Given the description of an element on the screen output the (x, y) to click on. 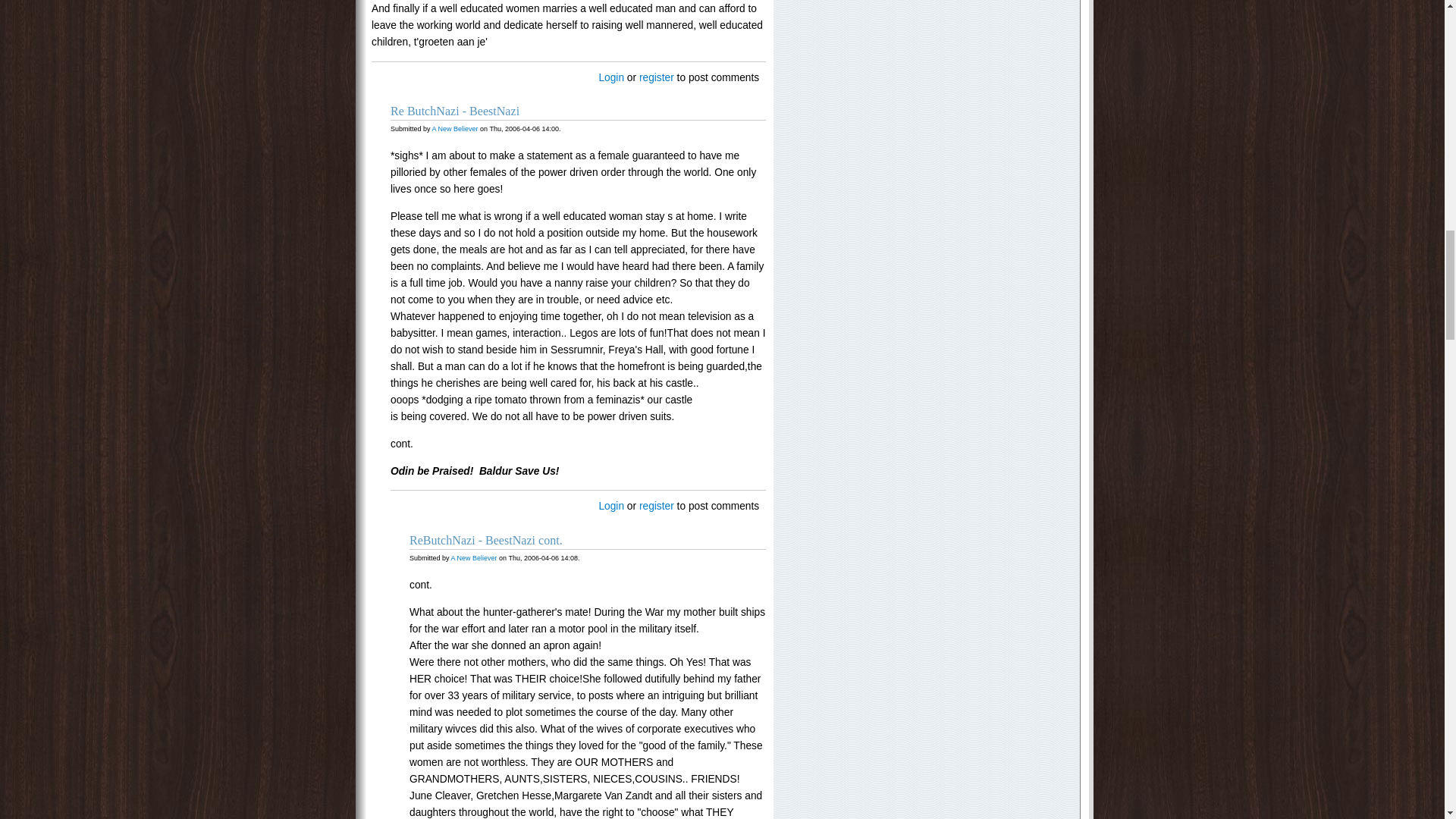
register (656, 77)
A New Believer (474, 557)
Login (611, 505)
Re ButchNazi - BeestNazi (454, 110)
Login (611, 77)
register (656, 505)
A New Believer (455, 128)
ReButchNazi - BeestNazi cont. (485, 540)
